Given the description of an element on the screen output the (x, y) to click on. 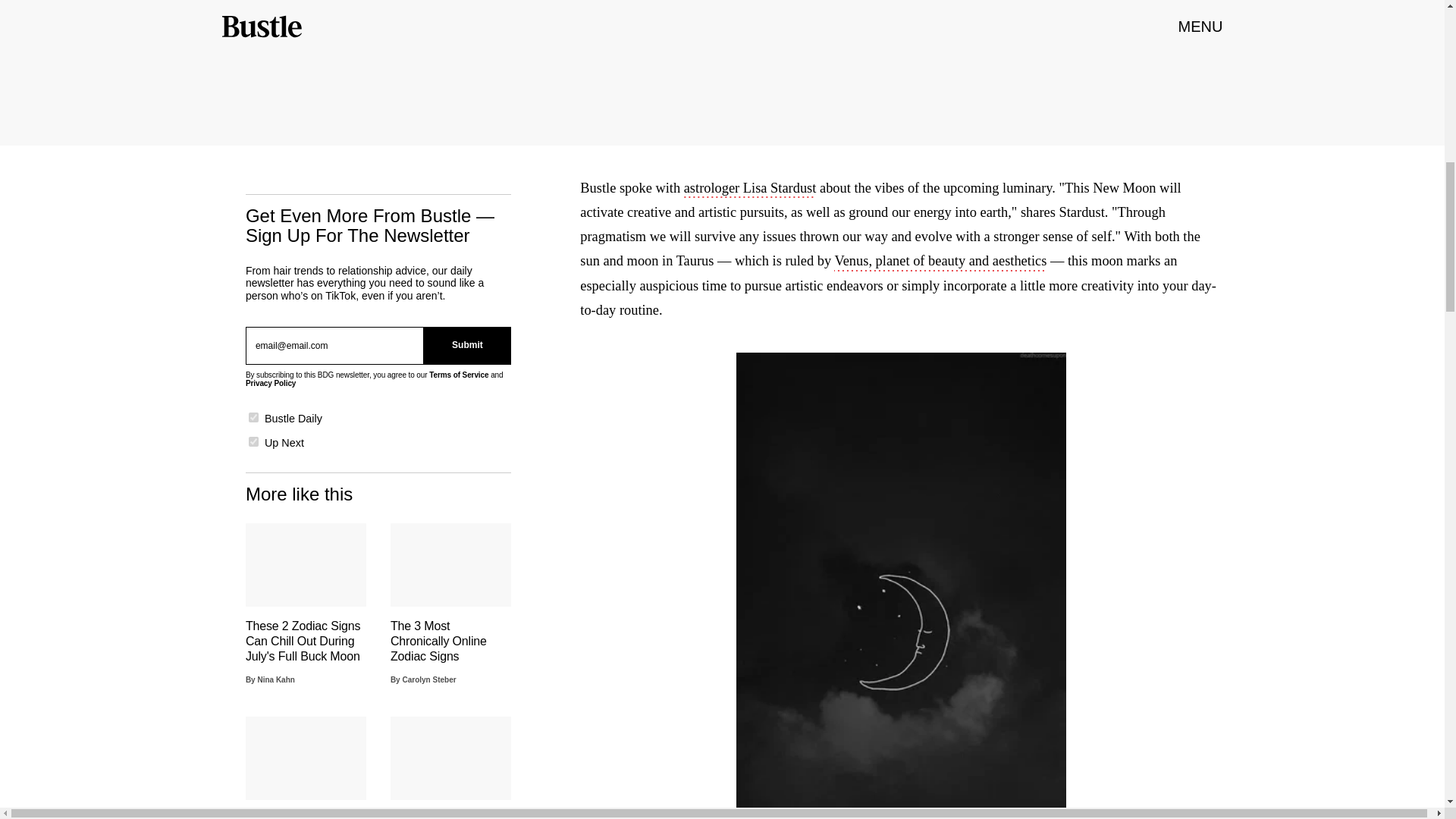
astrologer Lisa Stardust (750, 189)
Privacy Policy (270, 383)
Submit (467, 345)
Venus, planet of beauty and aesthetics (940, 262)
Terms of Service (458, 375)
